Given the description of an element on the screen output the (x, y) to click on. 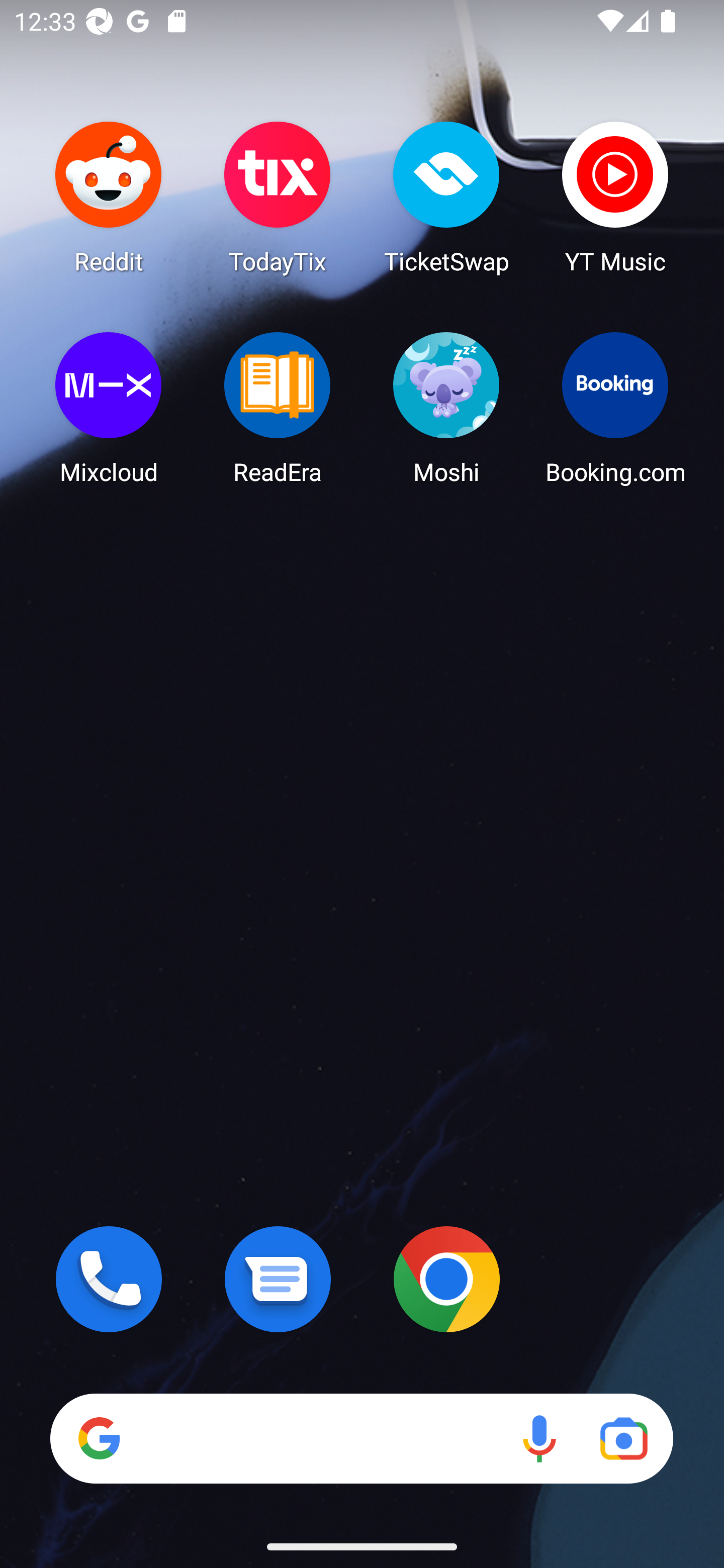
Reddit (108, 196)
TodayTix (277, 196)
TicketSwap (445, 196)
YT Music (615, 196)
Mixcloud (108, 407)
ReadEra (277, 407)
Moshi (445, 407)
Booking.com (615, 407)
Phone (108, 1279)
Messages (277, 1279)
Chrome (446, 1279)
Search Voice search Google Lens (361, 1438)
Voice search (539, 1438)
Google Lens (623, 1438)
